Given the description of an element on the screen output the (x, y) to click on. 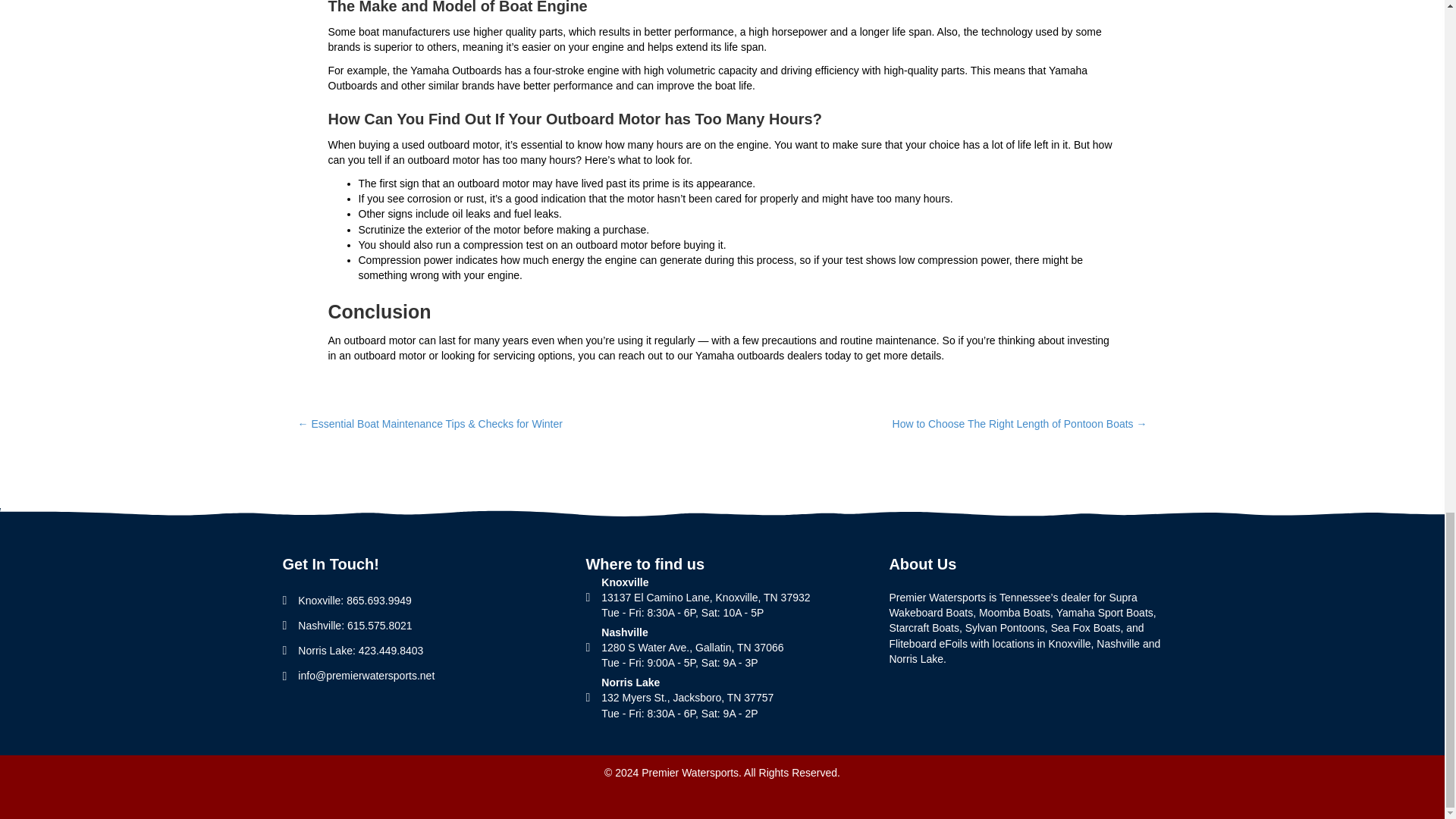
Nashville (624, 632)
Knoxville (705, 581)
Knoxville: 865.693.9949 (354, 599)
1280 S Water Ave., Gallatin, TN 37066 (692, 647)
132 Myers St., Jacksboro, TN 37757 (687, 697)
Norris Lake: 423.449.8403 (360, 650)
Norris Lake (630, 682)
Nashville: 615.575.8021 (355, 625)
13137 El Camino Lane, Knoxville, TN 37932 (705, 597)
